Given the description of an element on the screen output the (x, y) to click on. 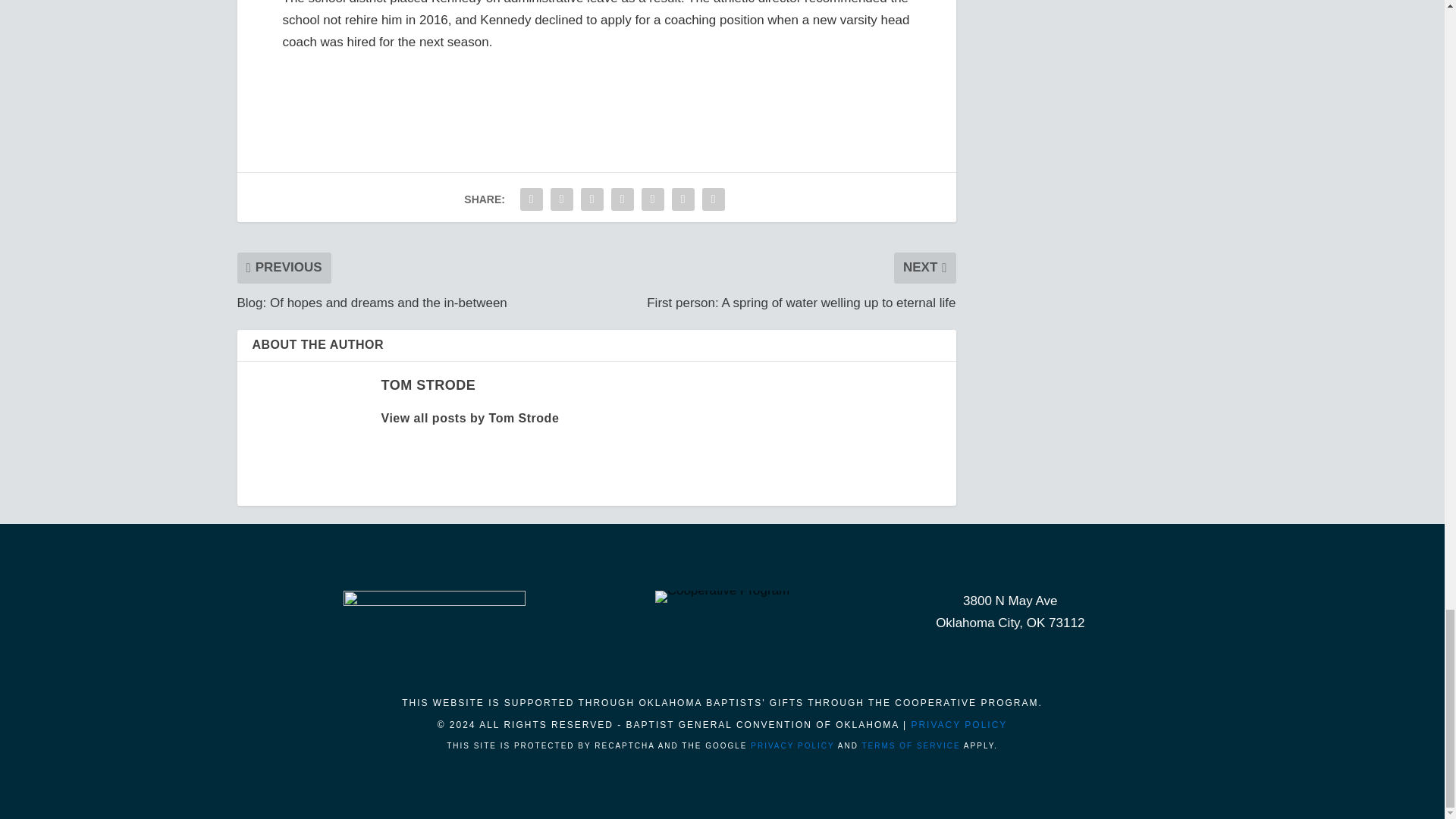
View all posts by Tom Strode (428, 385)
View all posts by Tom Strode (469, 418)
